Given the description of an element on the screen output the (x, y) to click on. 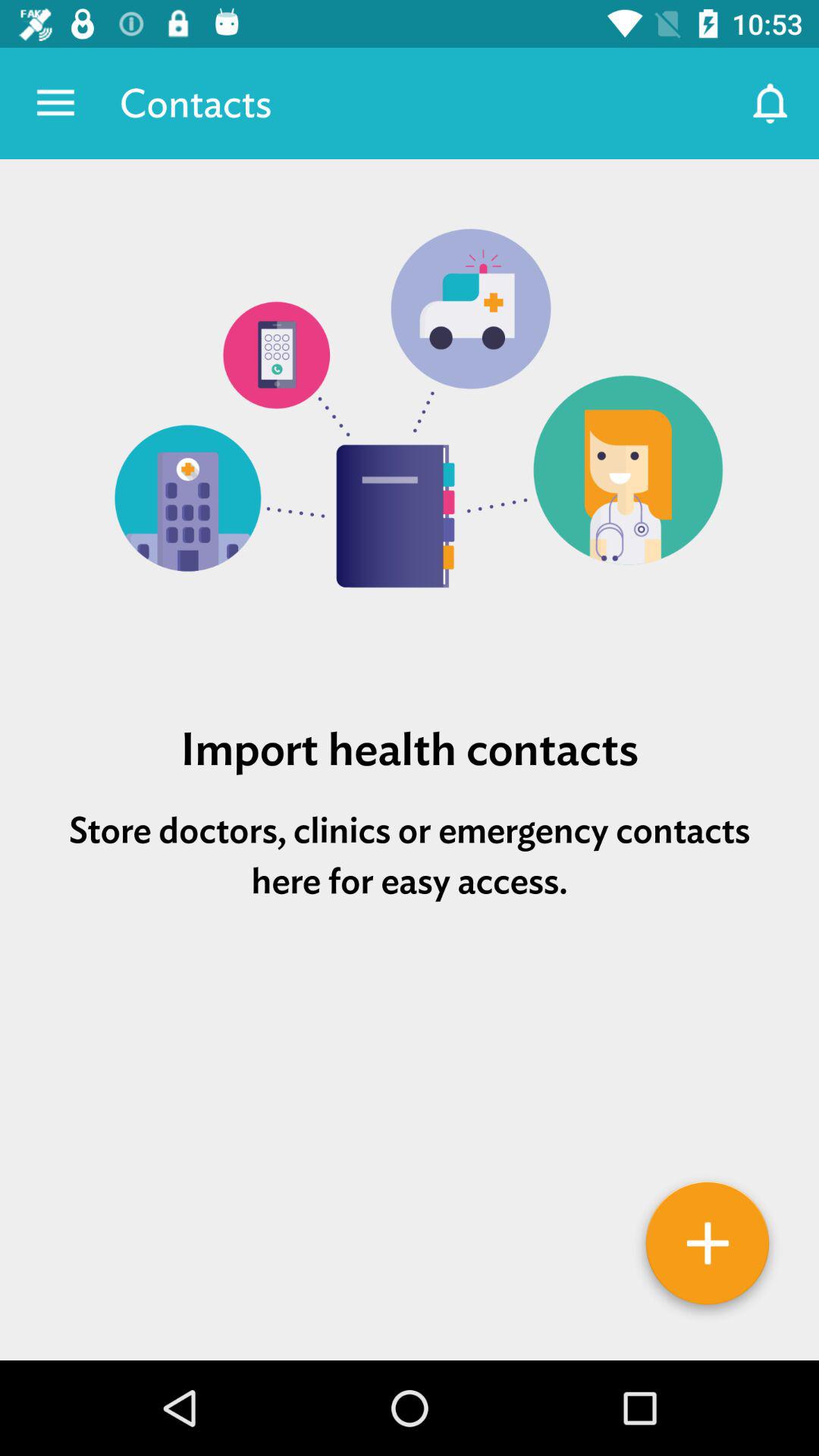
add contacts (707, 1248)
